Given the description of an element on the screen output the (x, y) to click on. 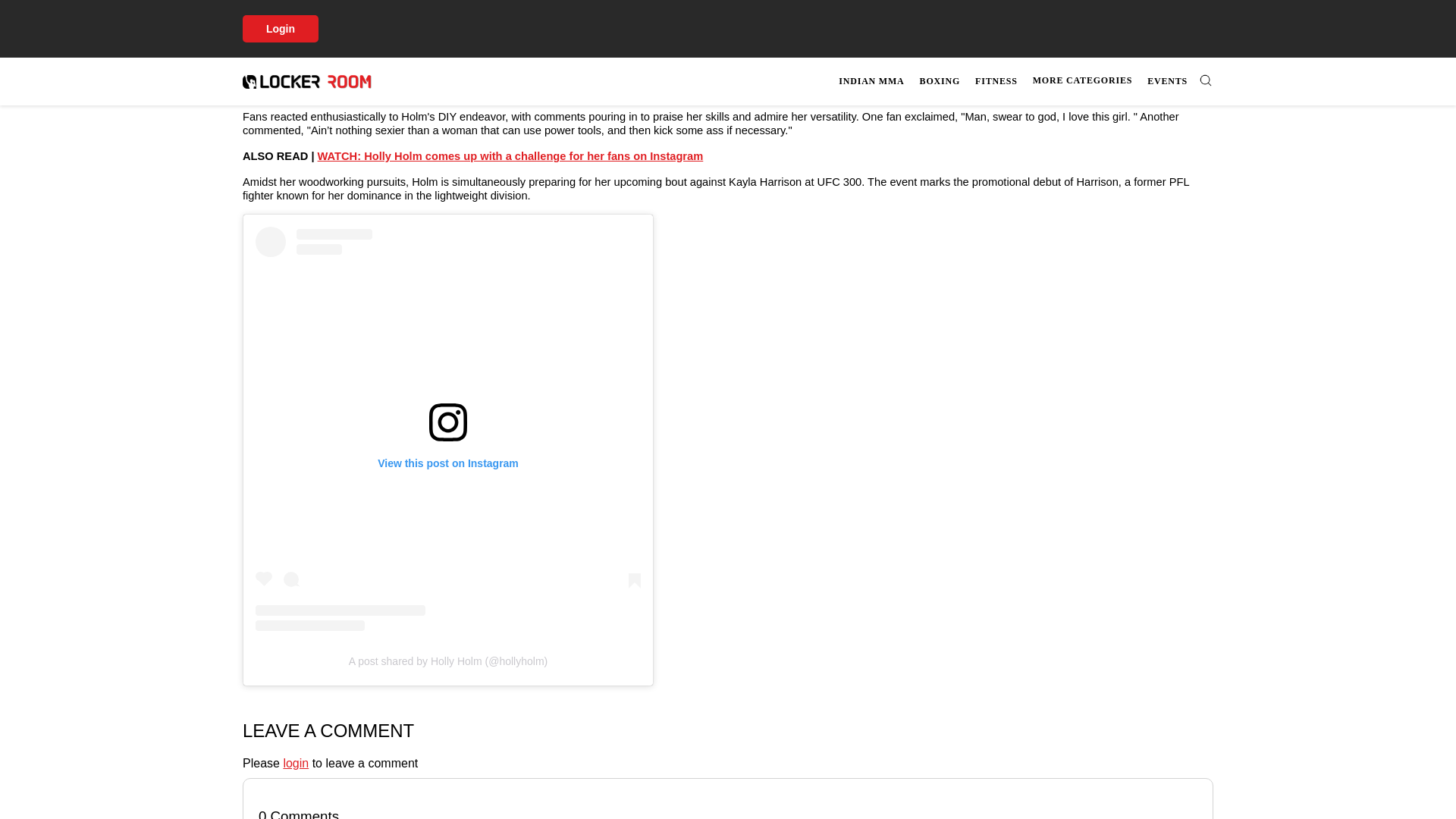
UFC (430, 2)
